Given the description of an element on the screen output the (x, y) to click on. 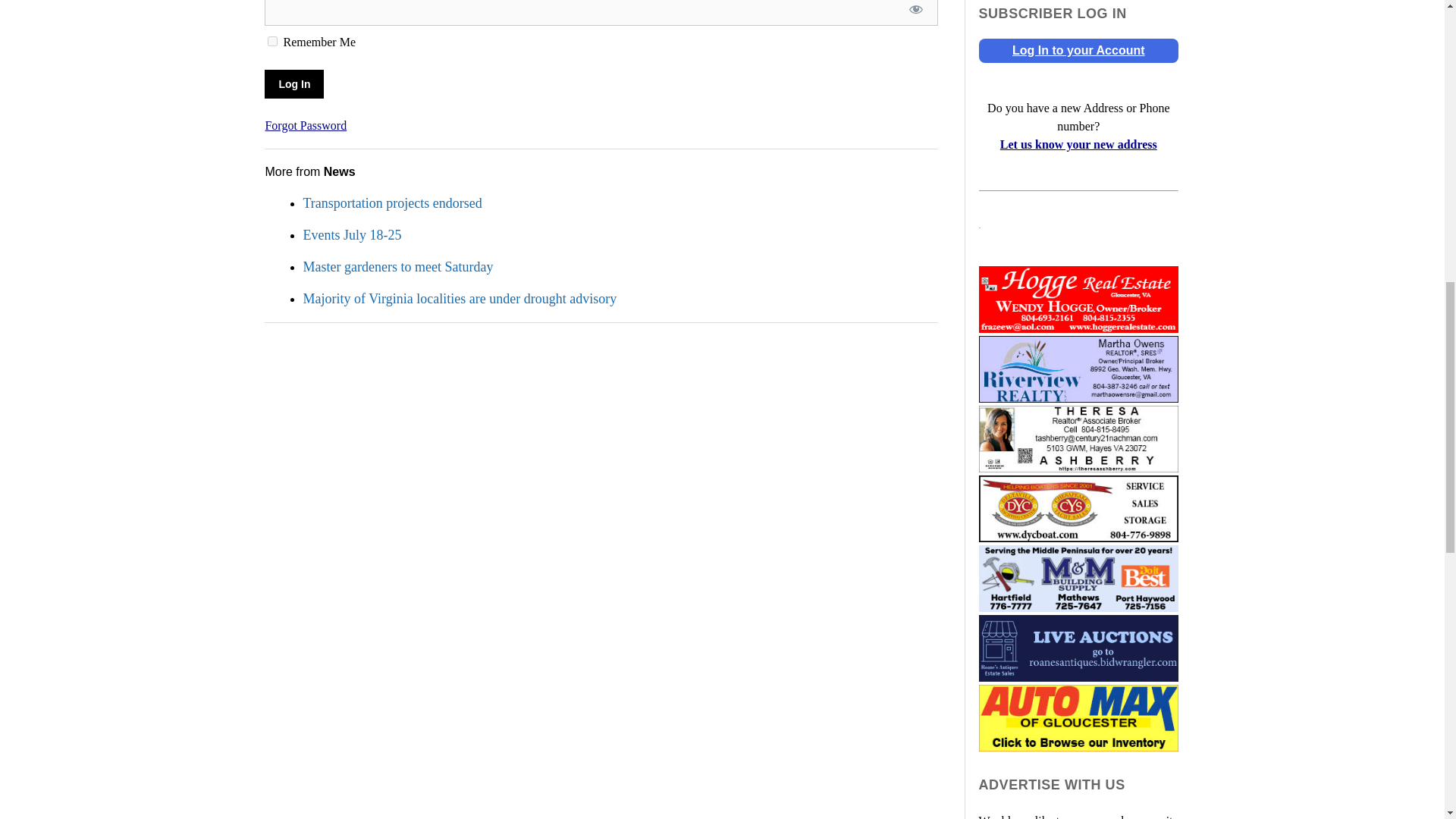
Log In (293, 83)
forever (272, 40)
